Given the description of an element on the screen output the (x, y) to click on. 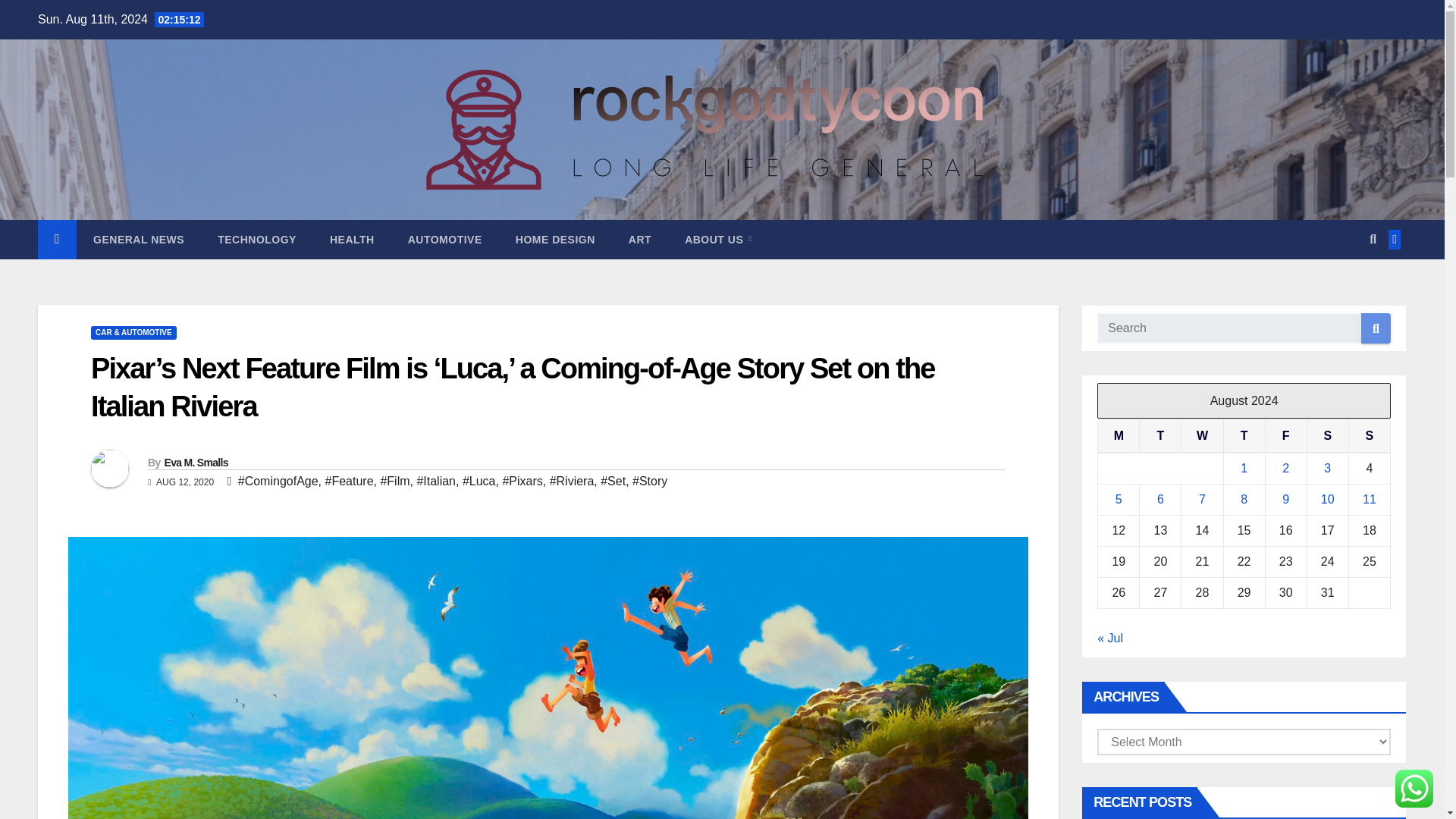
Art (639, 239)
HOME DESIGN (555, 239)
Health (352, 239)
Technology (256, 239)
General News (138, 239)
Home Design (555, 239)
ABOUT US (718, 239)
AUTOMOTIVE (445, 239)
TECHNOLOGY (256, 239)
GENERAL NEWS (138, 239)
